Given the description of an element on the screen output the (x, y) to click on. 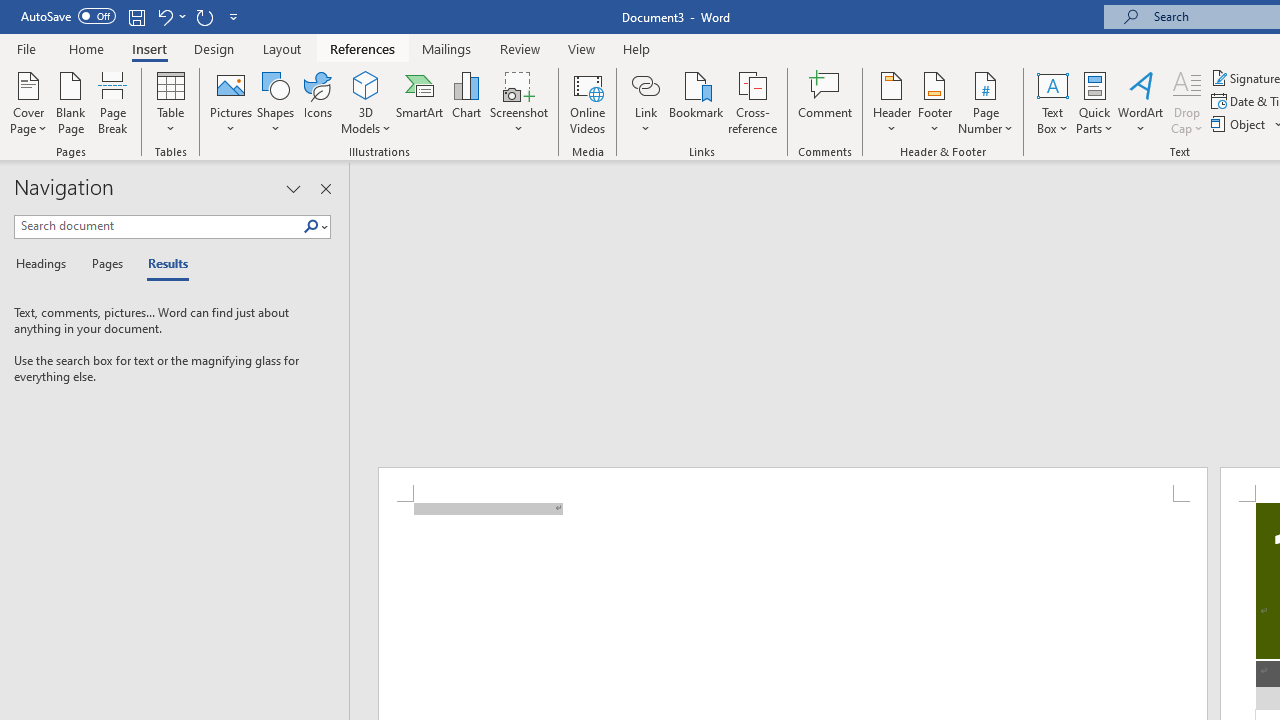
Drop Cap (1187, 102)
Blank Page (70, 102)
Page Number (986, 102)
Icons (317, 102)
Screenshot (518, 102)
Quick Parts (1094, 102)
